Given the description of an element on the screen output the (x, y) to click on. 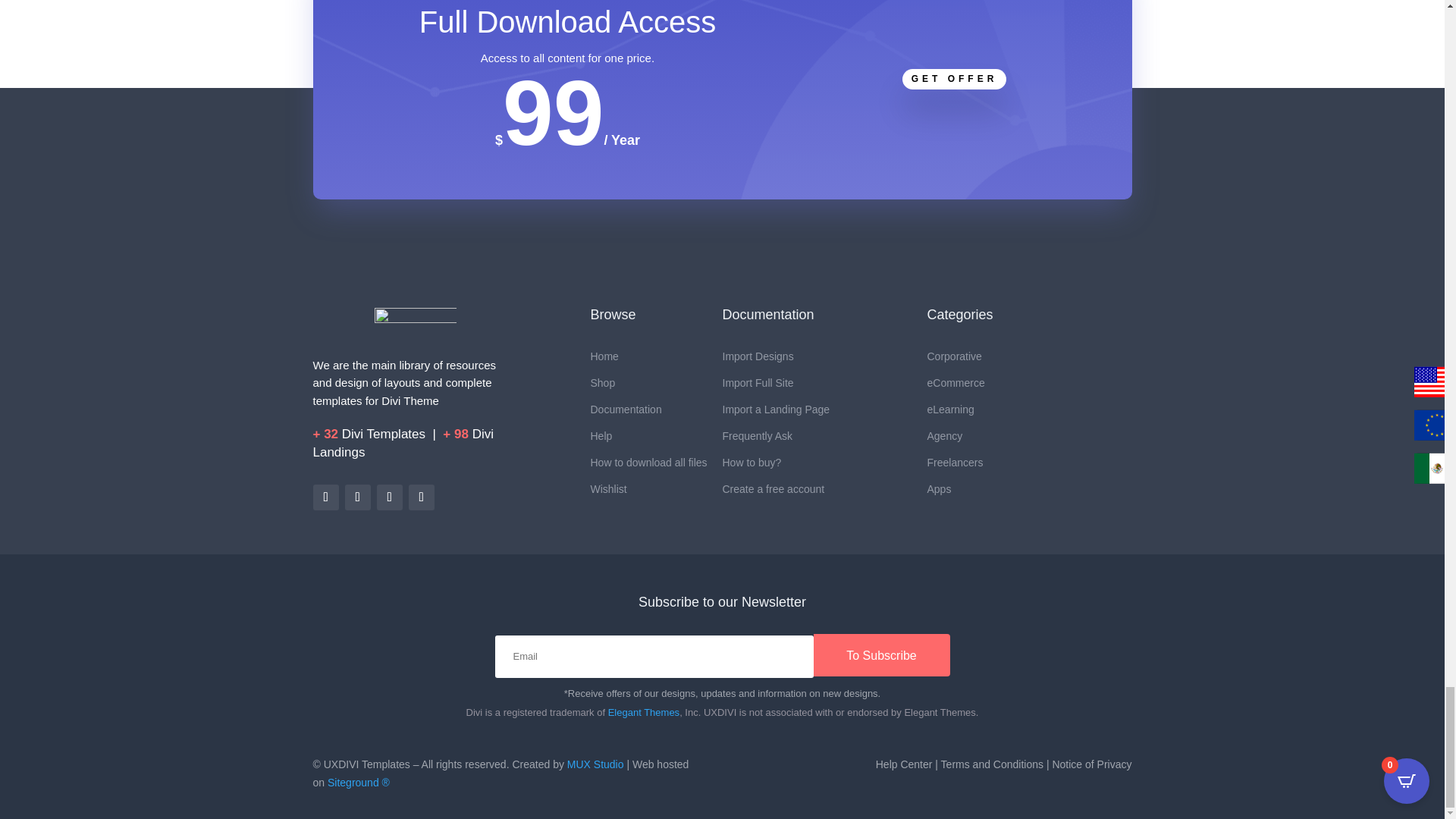
Follow on X (420, 497)
Follow on Facebook (388, 497)
300-blanco-Uxdivi-templates-logo (415, 323)
Follow on Pinterest (356, 497)
Follow on Instagram (325, 497)
